Given the description of an element on the screen output the (x, y) to click on. 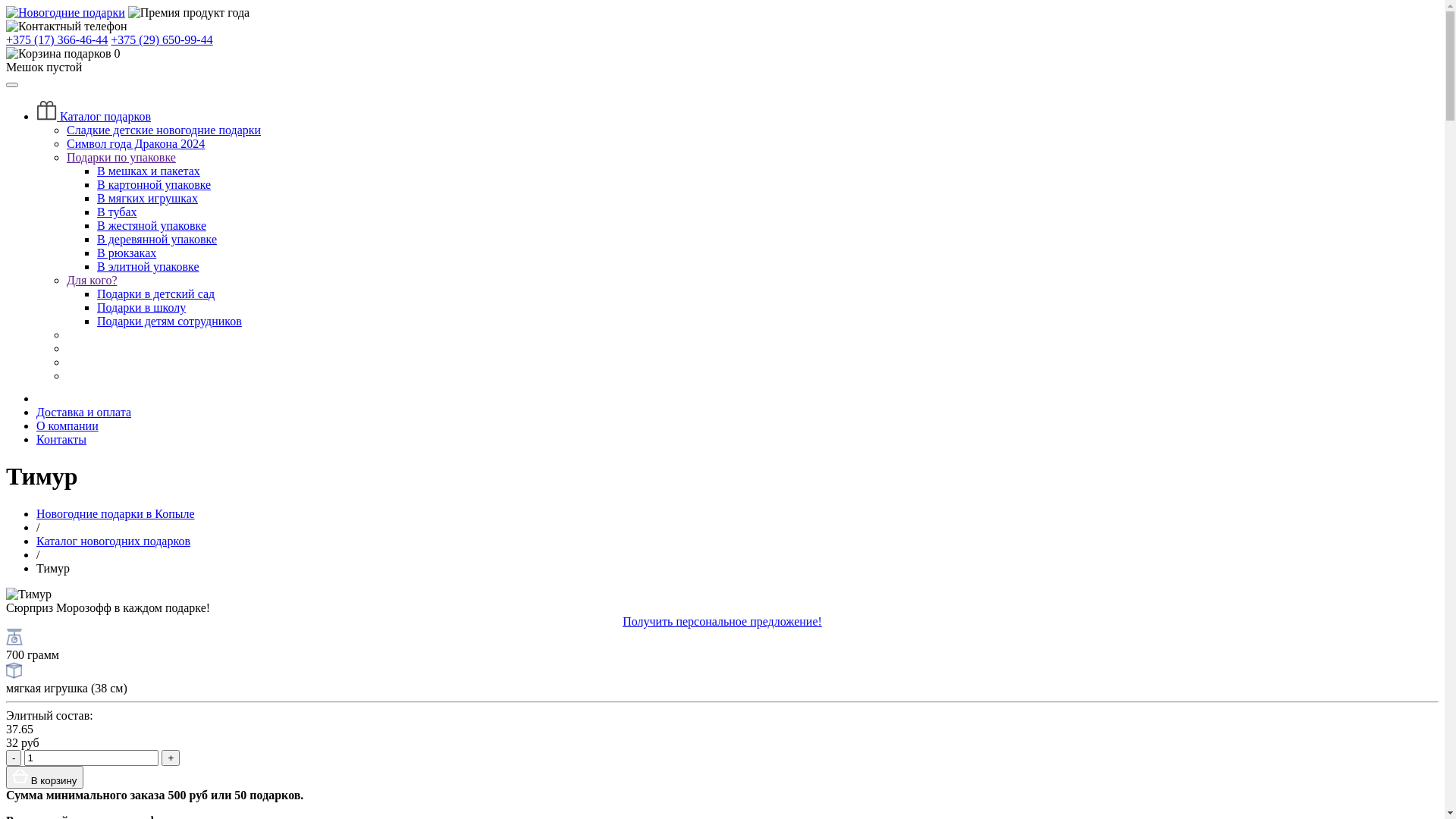
+375 (29) 650-99-44 Element type: text (161, 39)
+ Element type: text (170, 757)
+375 (17) 366-46-44 Element type: text (56, 39)
- Element type: text (13, 757)
